Given the description of an element on the screen output the (x, y) to click on. 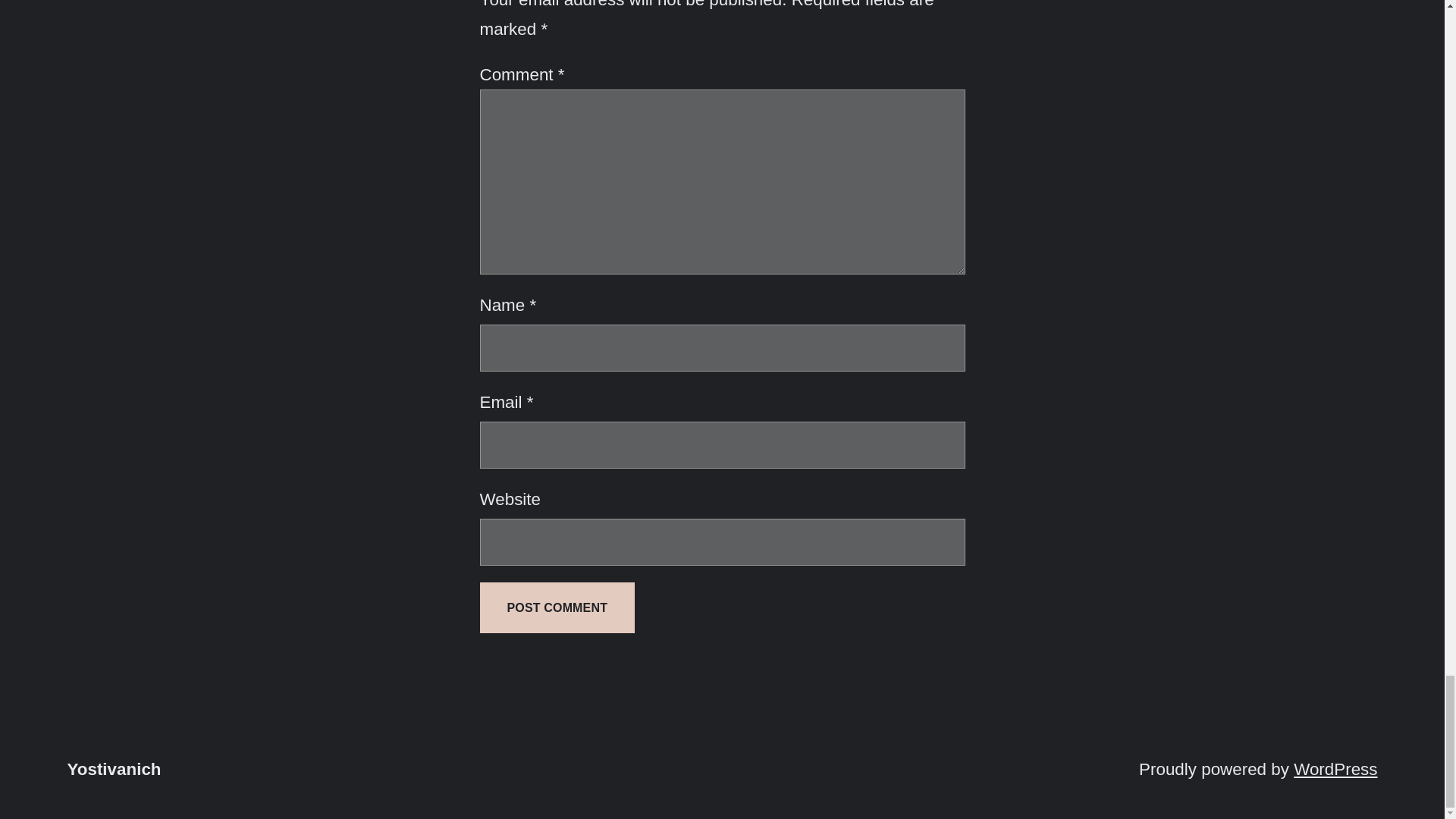
Post Comment (556, 607)
WordPress (1335, 769)
Post Comment (556, 607)
Yostivanich (113, 769)
